Given the description of an element on the screen output the (x, y) to click on. 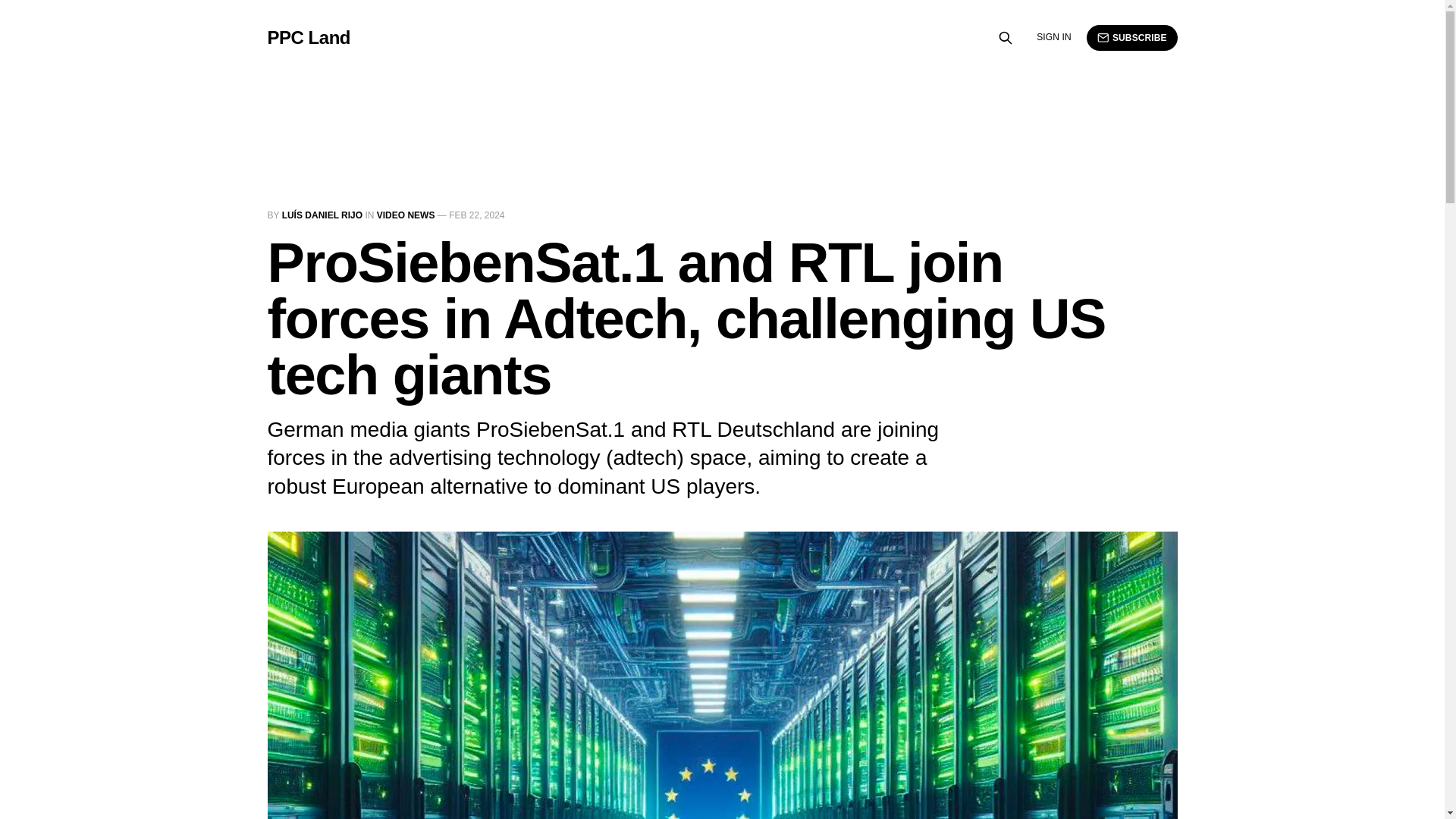
SUBSCRIBE (1131, 37)
SIGN IN (1053, 37)
VIDEO NEWS (406, 214)
PPC Land (308, 37)
